Given the description of an element on the screen output the (x, y) to click on. 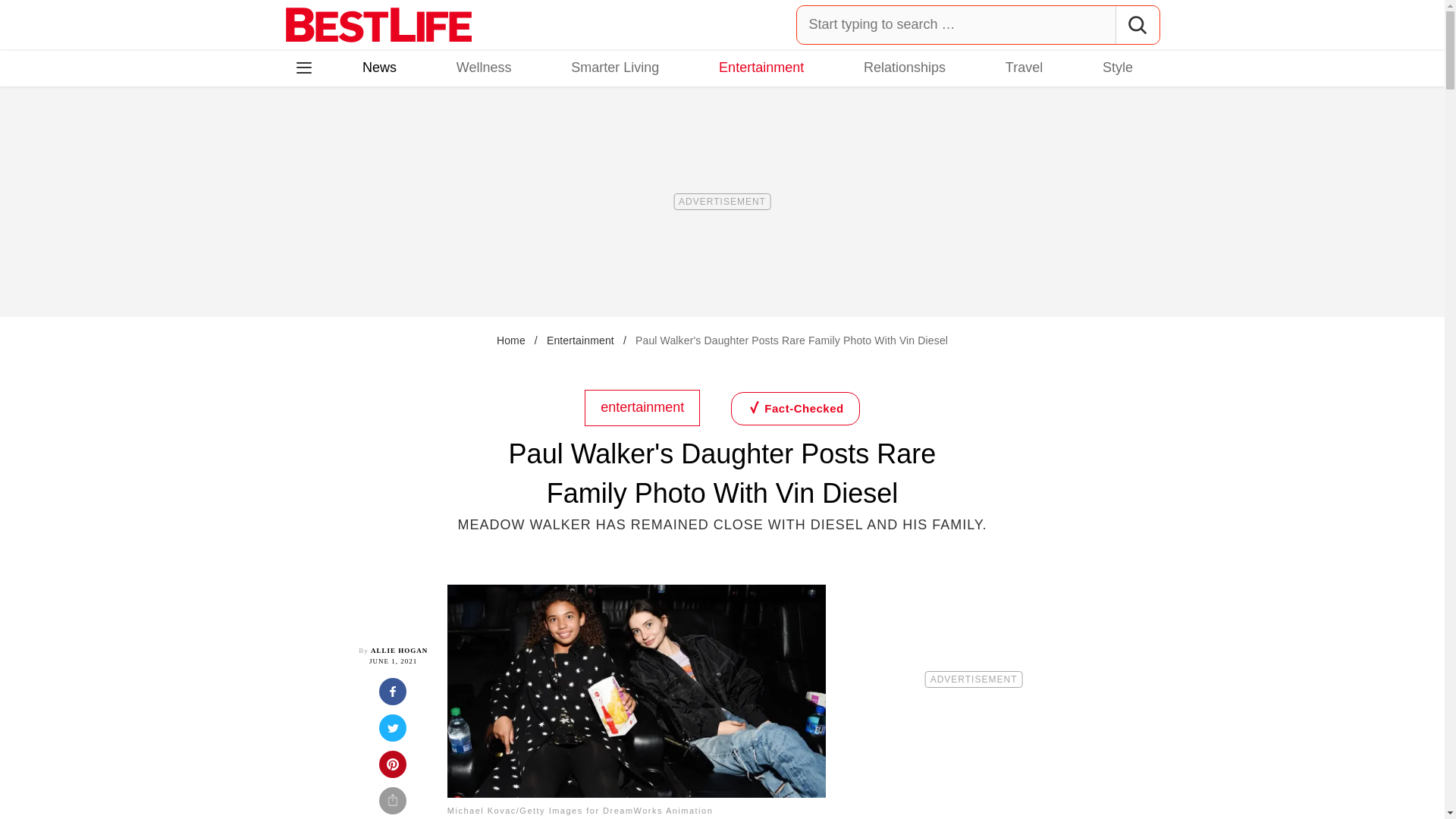
Share on Pinterest (392, 769)
Wellness (483, 66)
Type and press Enter to search (978, 24)
Share via email (392, 803)
entertainment (641, 406)
Share on Twitter (392, 732)
Share on Facebook (392, 696)
Facebook (314, 133)
Entertainment (761, 66)
Travel (1023, 66)
